Given the description of an element on the screen output the (x, y) to click on. 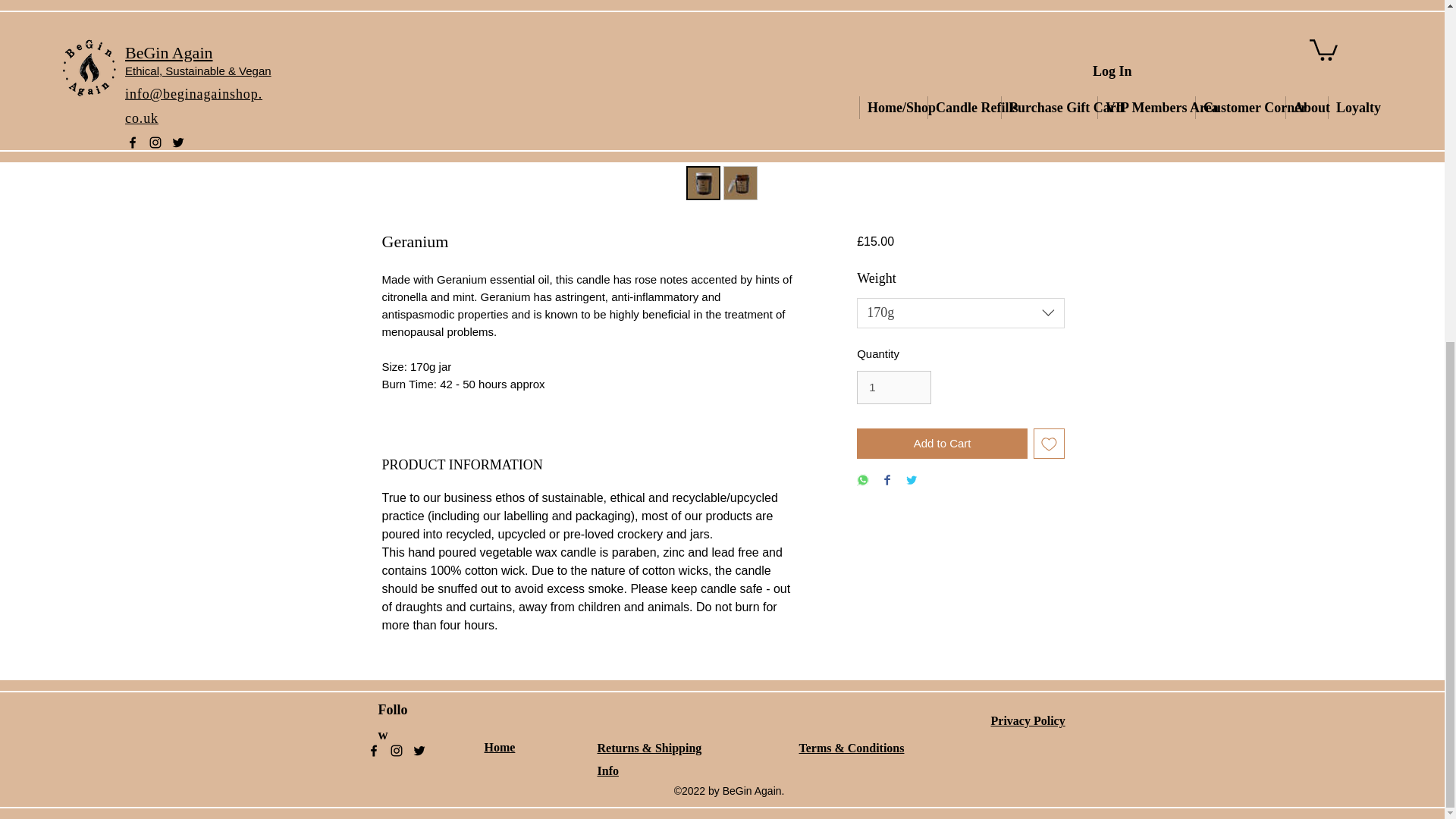
170g (960, 313)
1 (894, 387)
Add to Cart (942, 443)
